Given the description of an element on the screen output the (x, y) to click on. 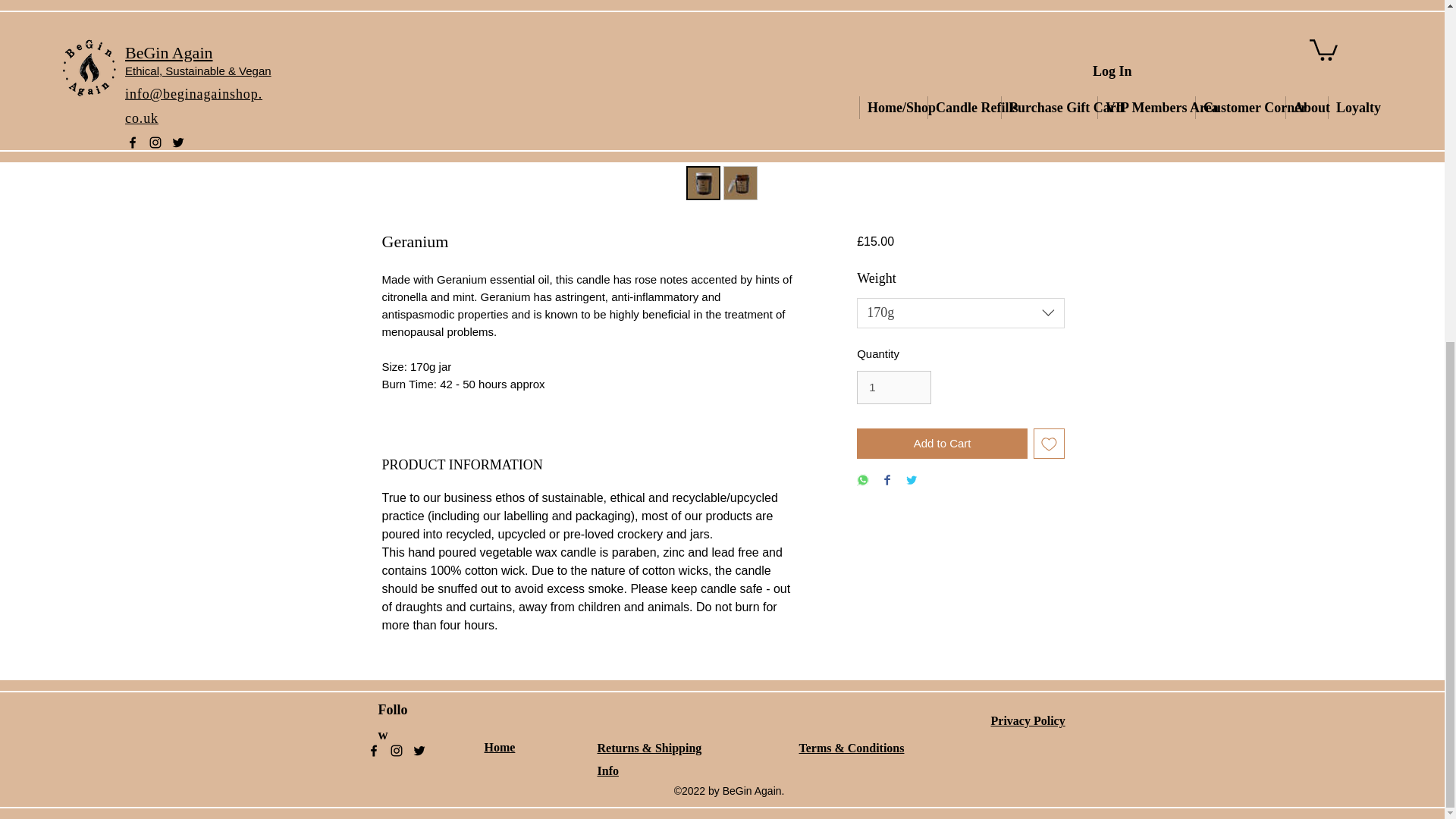
170g (960, 313)
1 (894, 387)
Add to Cart (942, 443)
